Given the description of an element on the screen output the (x, y) to click on. 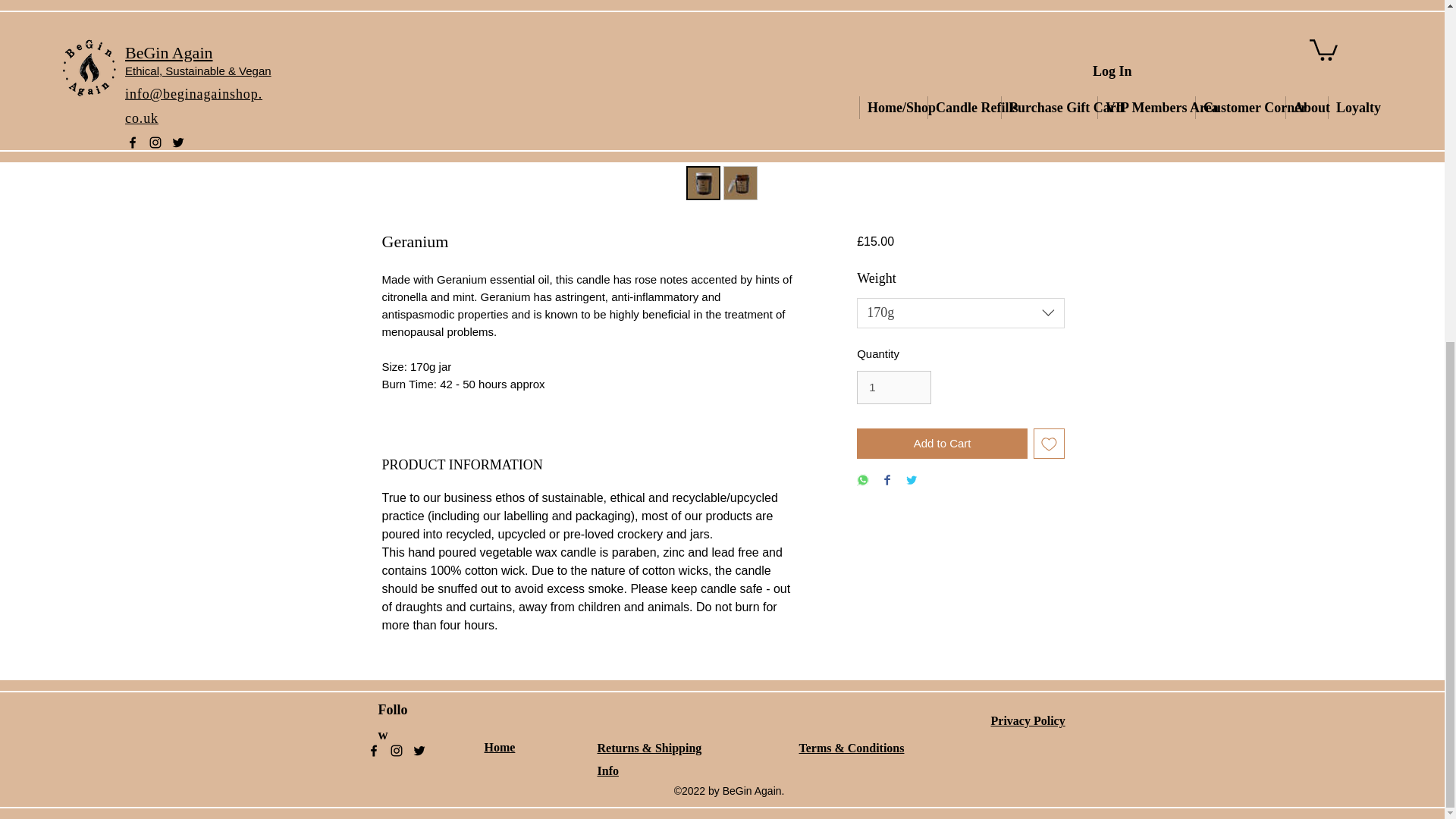
170g (960, 313)
1 (894, 387)
Add to Cart (942, 443)
